Given the description of an element on the screen output the (x, y) to click on. 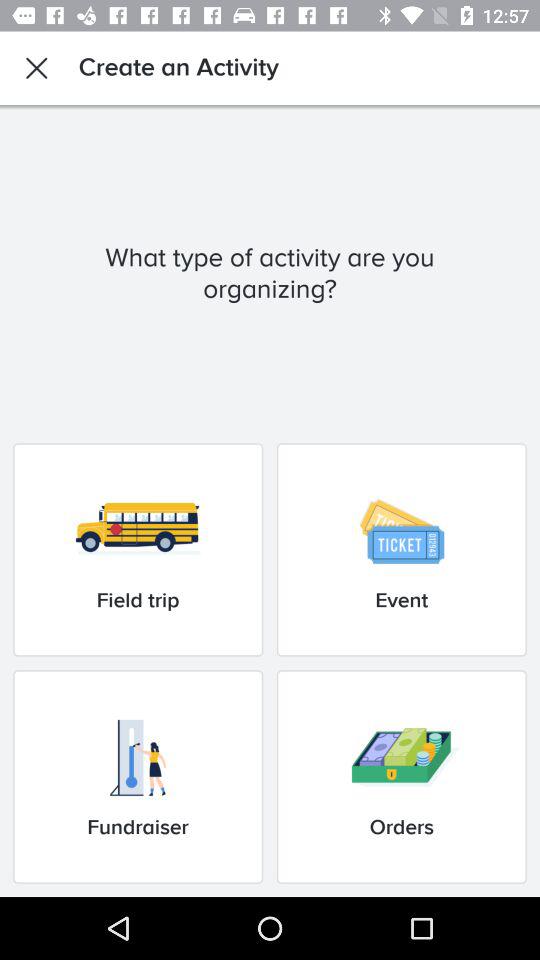
turn on icon on the right (401, 549)
